Given the description of an element on the screen output the (x, y) to click on. 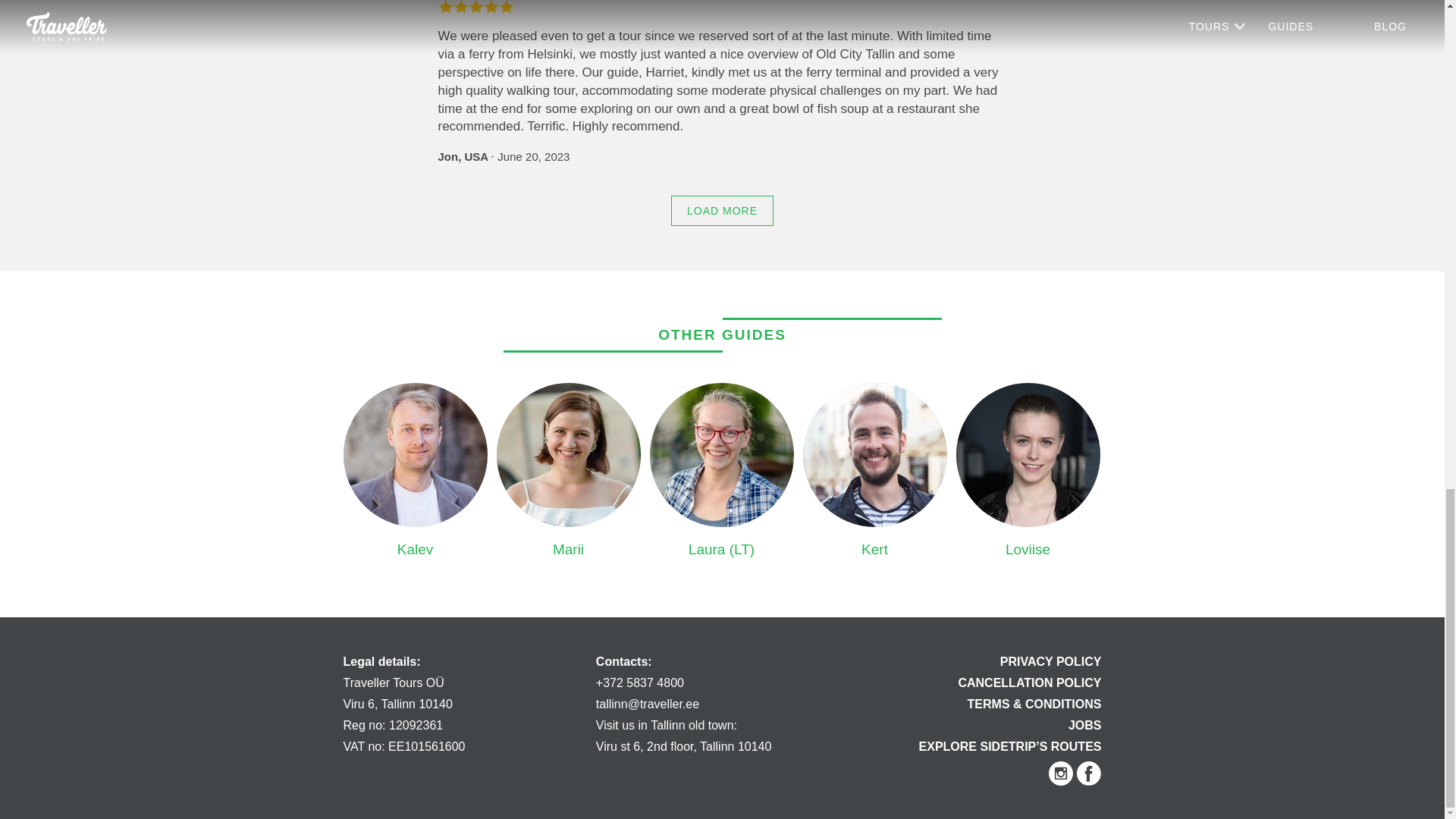
Kert (874, 455)
Marii (568, 455)
LOAD MORE (722, 210)
Kalev (414, 455)
Loviise (1027, 455)
